Given the description of an element on the screen output the (x, y) to click on. 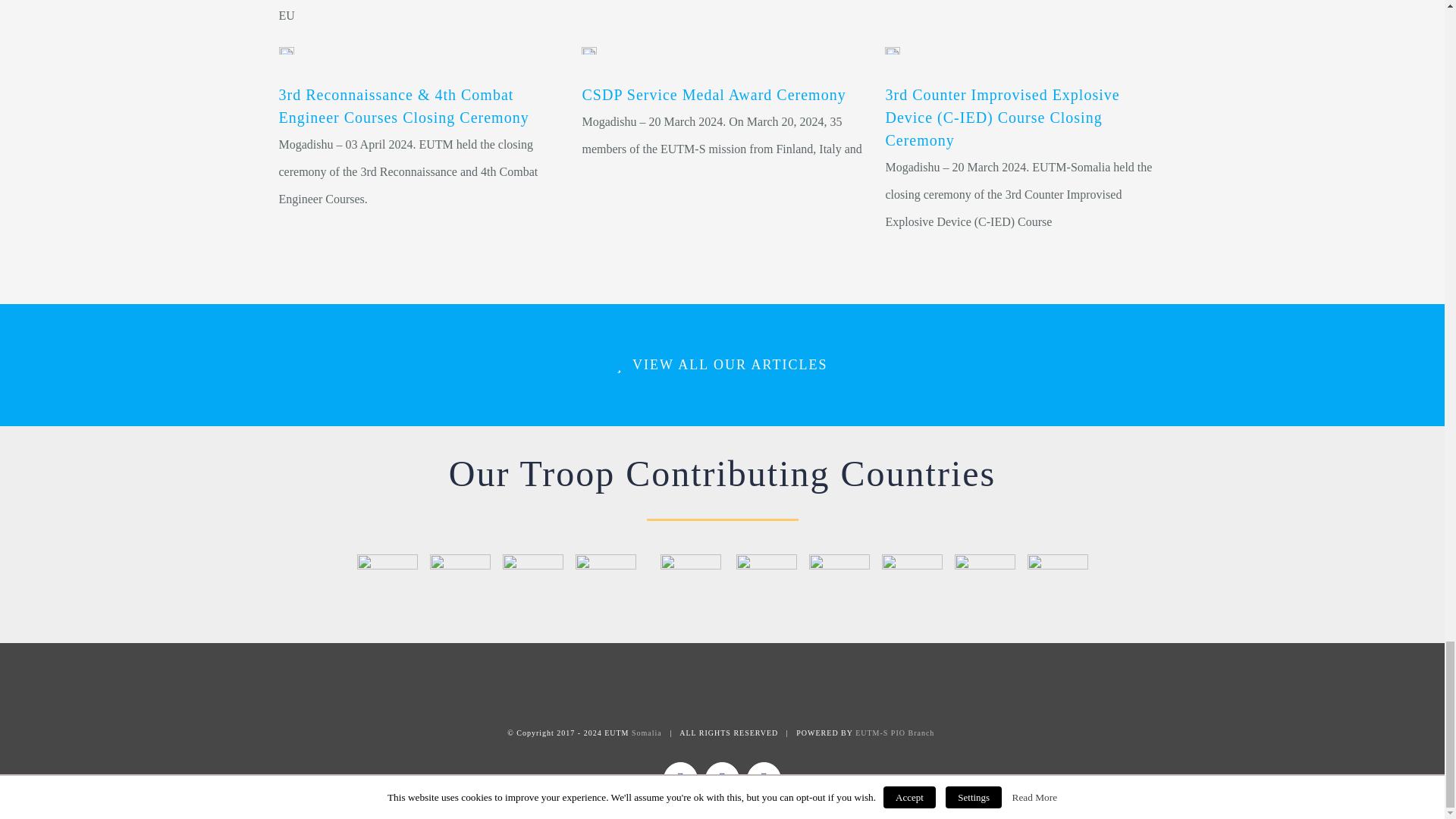
X (721, 779)
Instagram (763, 779)
Facebook (680, 779)
